Given the description of an element on the screen output the (x, y) to click on. 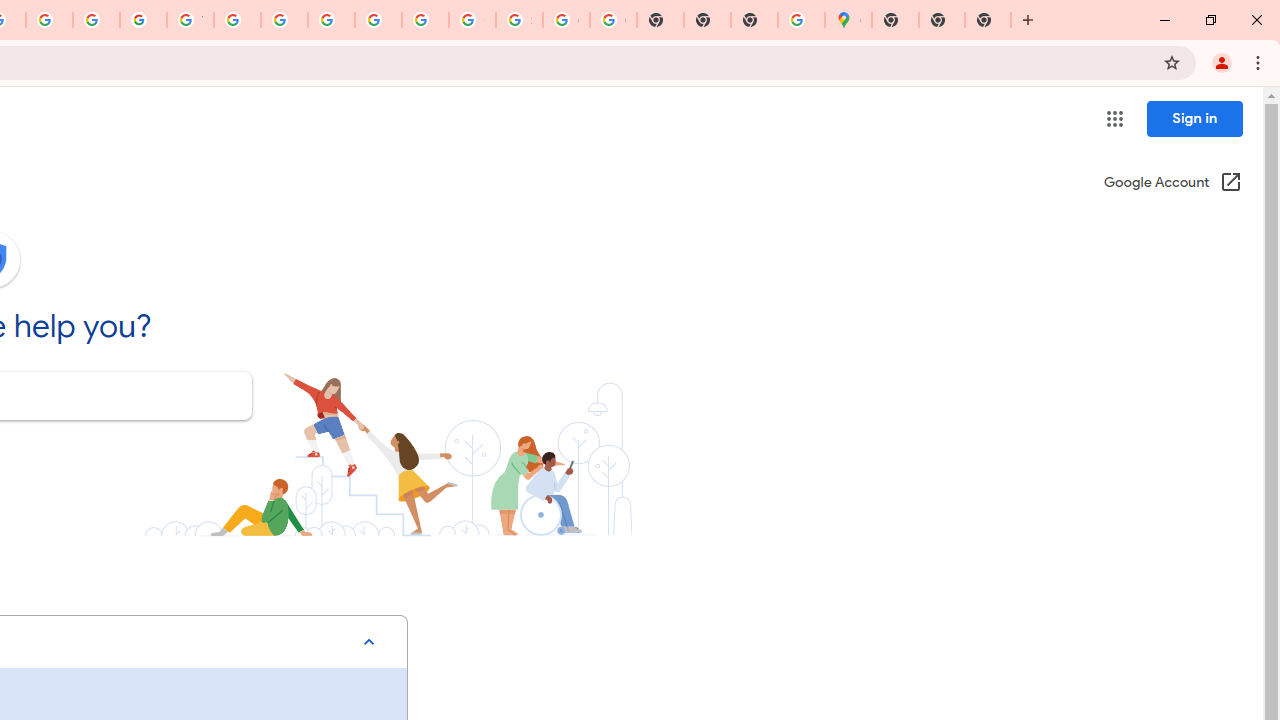
Use Google Maps in Space - Google Maps Help (801, 20)
Sign in - Google Accounts (518, 20)
YouTube (189, 20)
Google Maps (848, 20)
New Tab (988, 20)
